Given the description of an element on the screen output the (x, y) to click on. 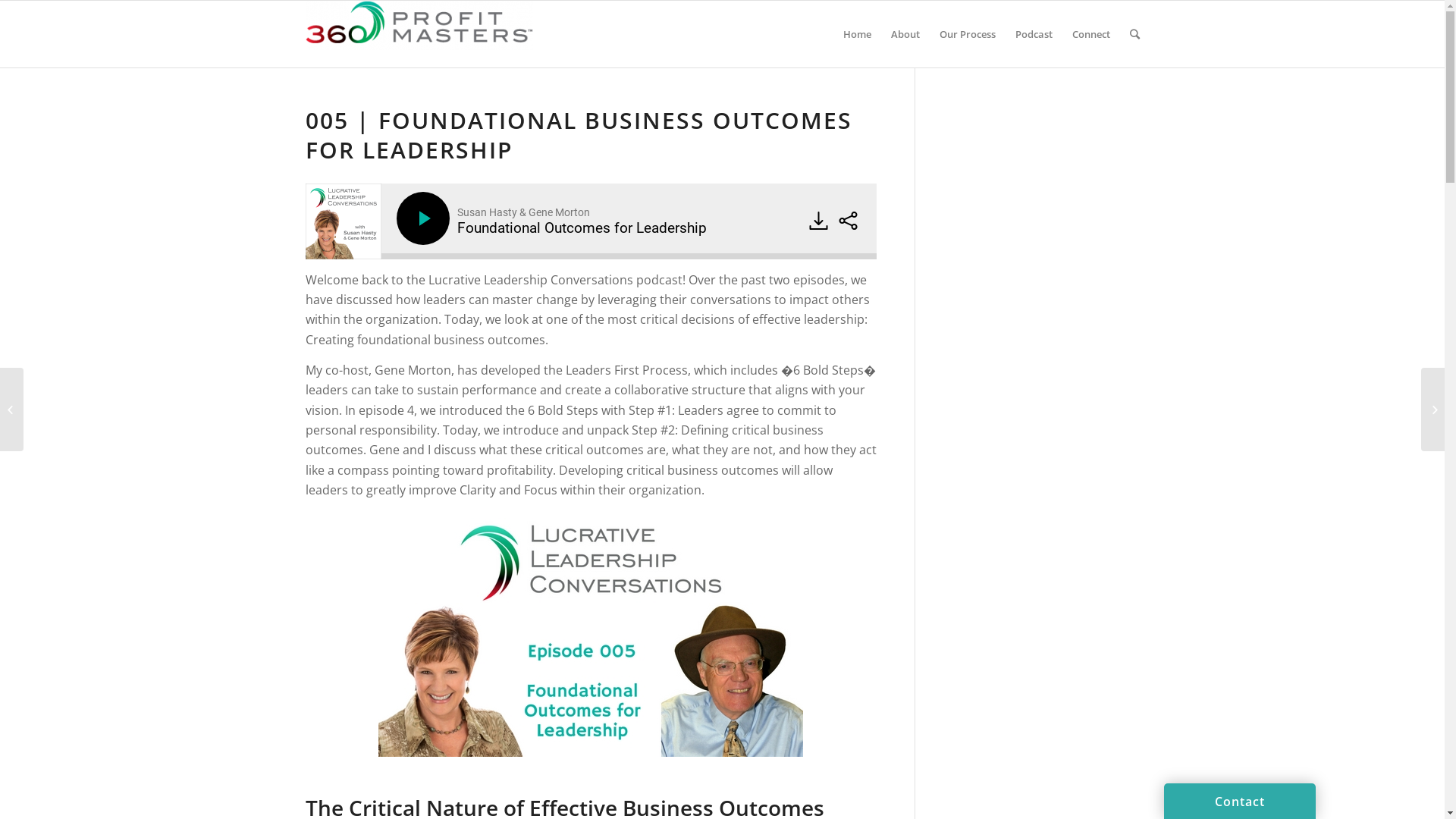
005 | FOUNDATIONAL BUSINESS OUTCOMES FOR LEADERSHIP Element type: text (577, 134)
About Element type: text (905, 33)
Podcast Element type: text (1033, 33)
Our Process Element type: text (967, 33)
Home Element type: text (856, 33)
Connect Element type: text (1090, 33)
